Given the description of an element on the screen output the (x, y) to click on. 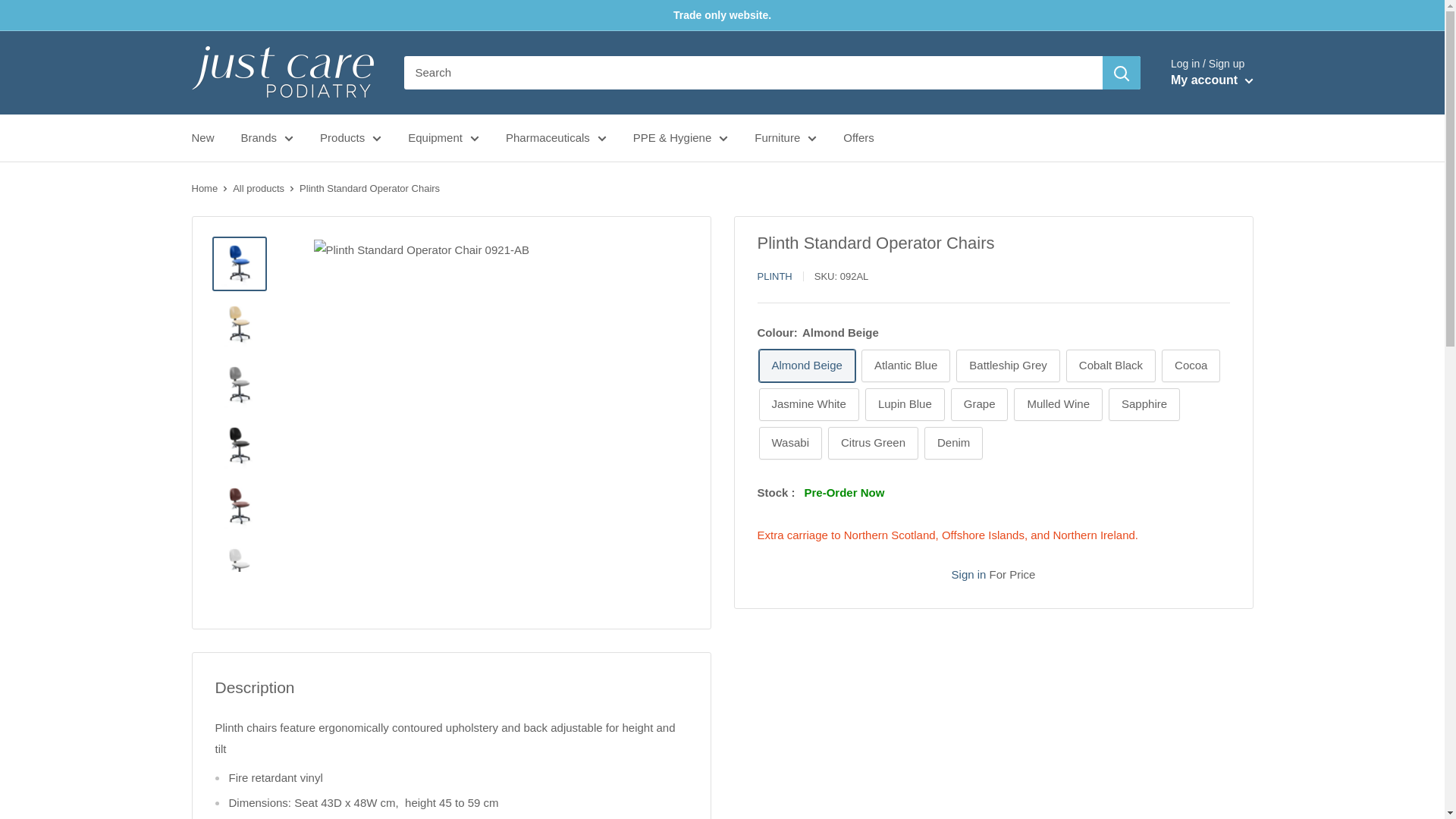
Mulled Wine (1057, 404)
Wasabi (789, 442)
Sapphire (1143, 404)
Denim (953, 442)
Grape (979, 404)
Almond Beige (806, 365)
Lupin Blue (904, 404)
Cocoa (1190, 365)
Citrus Green (873, 442)
Battleship Grey (1007, 365)
